Given the description of an element on the screen output the (x, y) to click on. 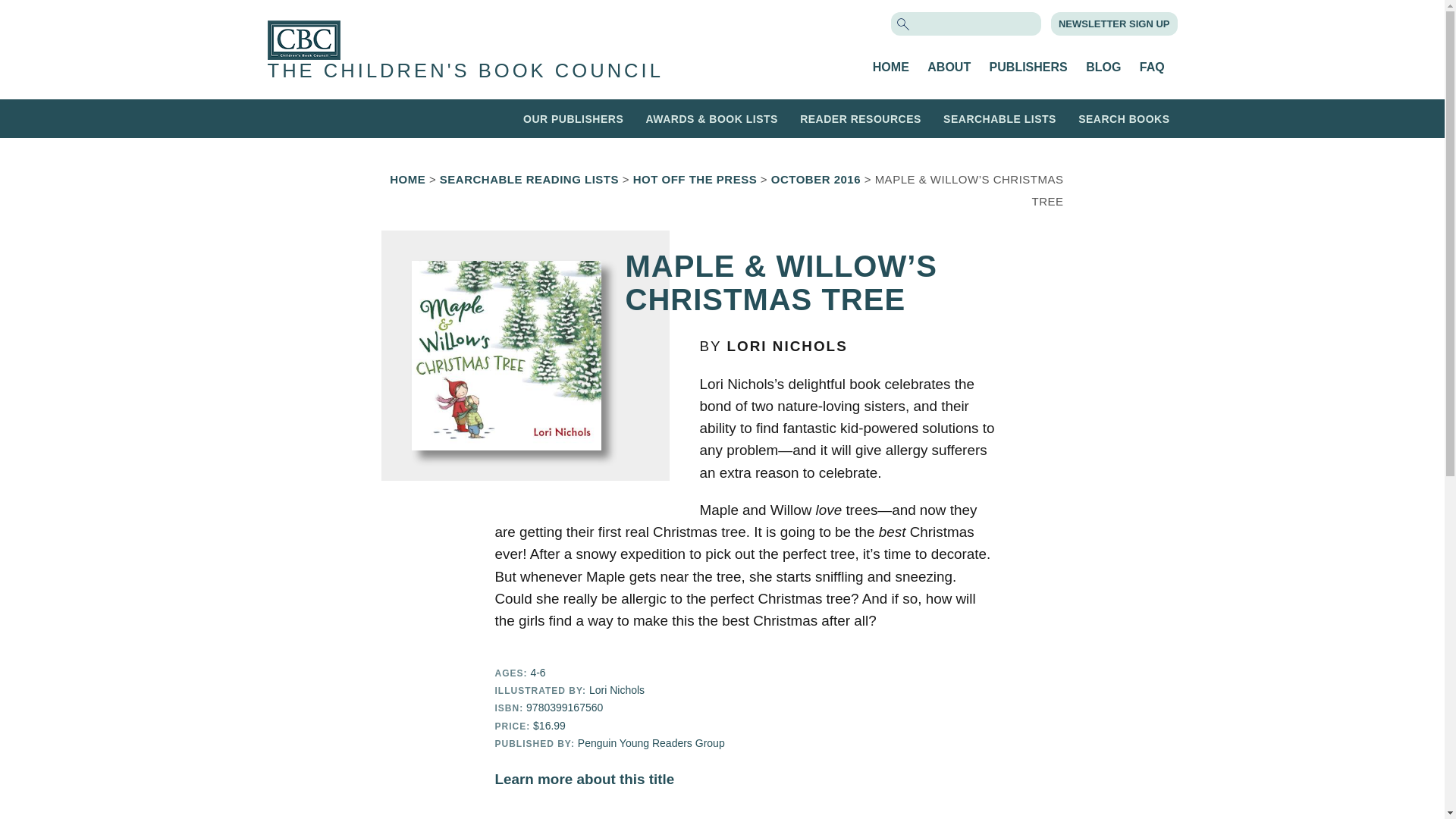
Search (39, 13)
READER RESOURCES (860, 118)
FAQ (1152, 66)
PUBLISHERS (1028, 66)
BLOG (1103, 66)
NEWSLETTER SIGN UP (1114, 23)
ABOUT (949, 66)
OUR PUBLISHERS (572, 118)
THE CHILDREN'S BOOK COUNCIL (464, 70)
SEARCHABLE LISTS (1000, 118)
